Given the description of an element on the screen output the (x, y) to click on. 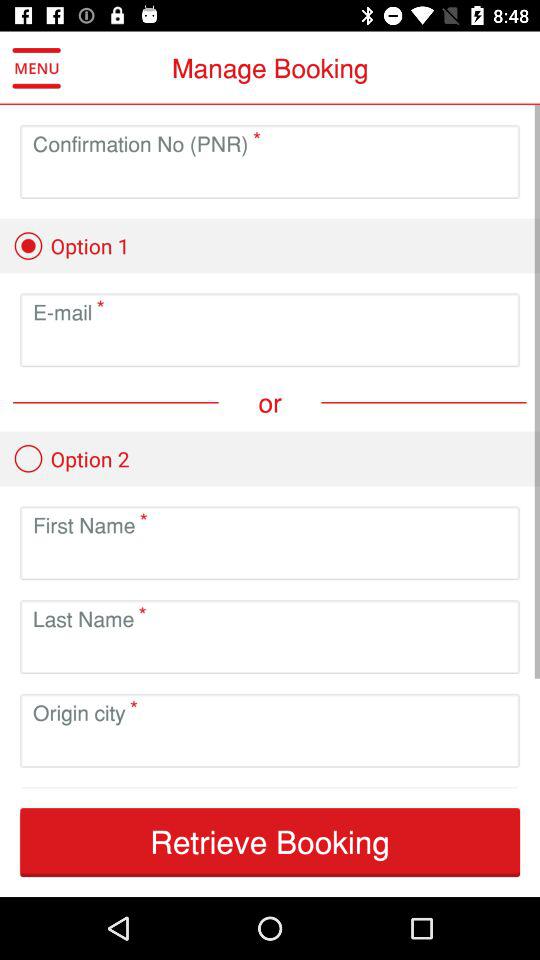
field to input last name (270, 652)
